Given the description of an element on the screen output the (x, y) to click on. 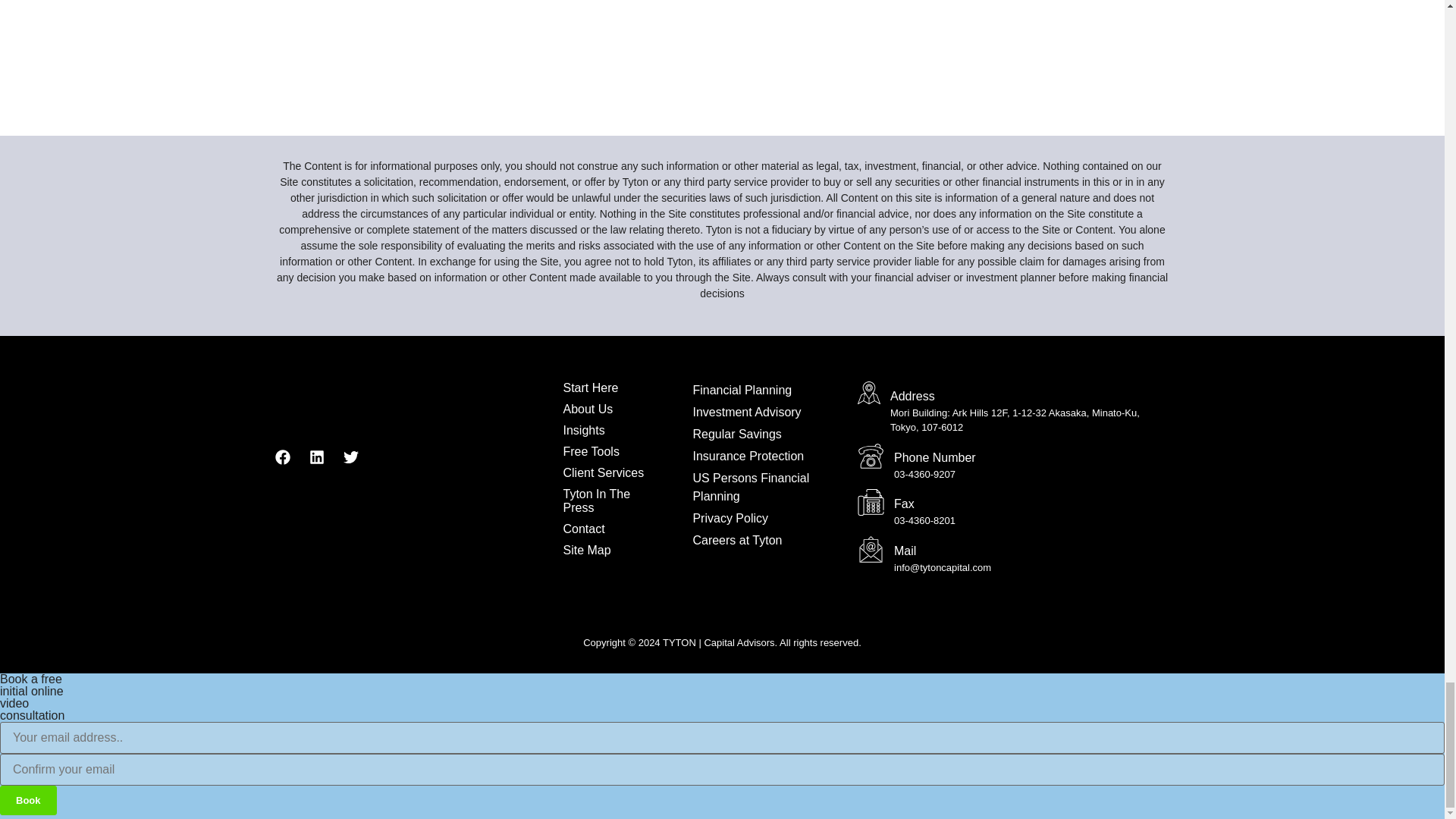
Book (28, 799)
